Given the description of an element on the screen output the (x, y) to click on. 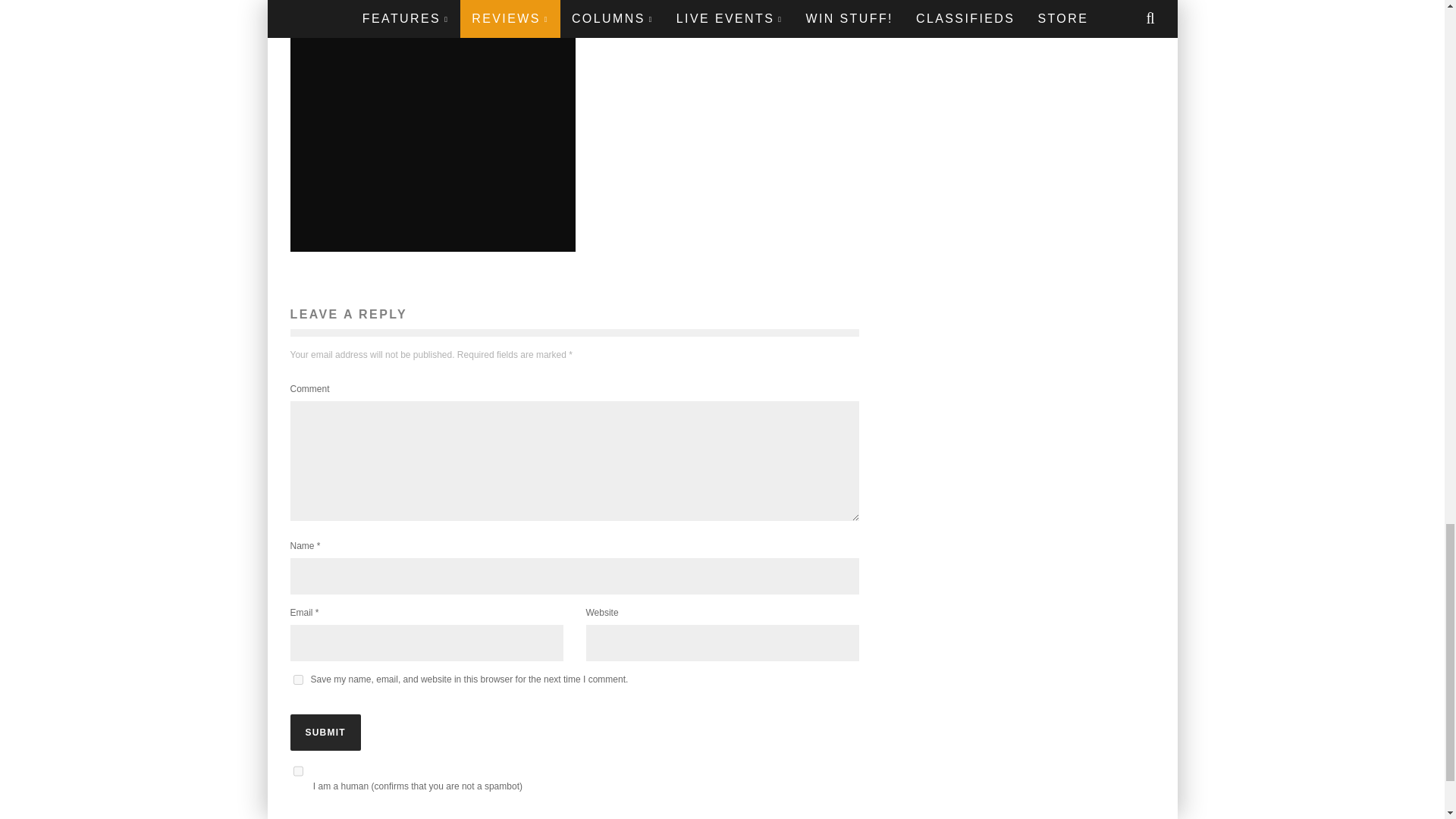
Submit (324, 732)
yes (297, 679)
